Given the description of an element on the screen output the (x, y) to click on. 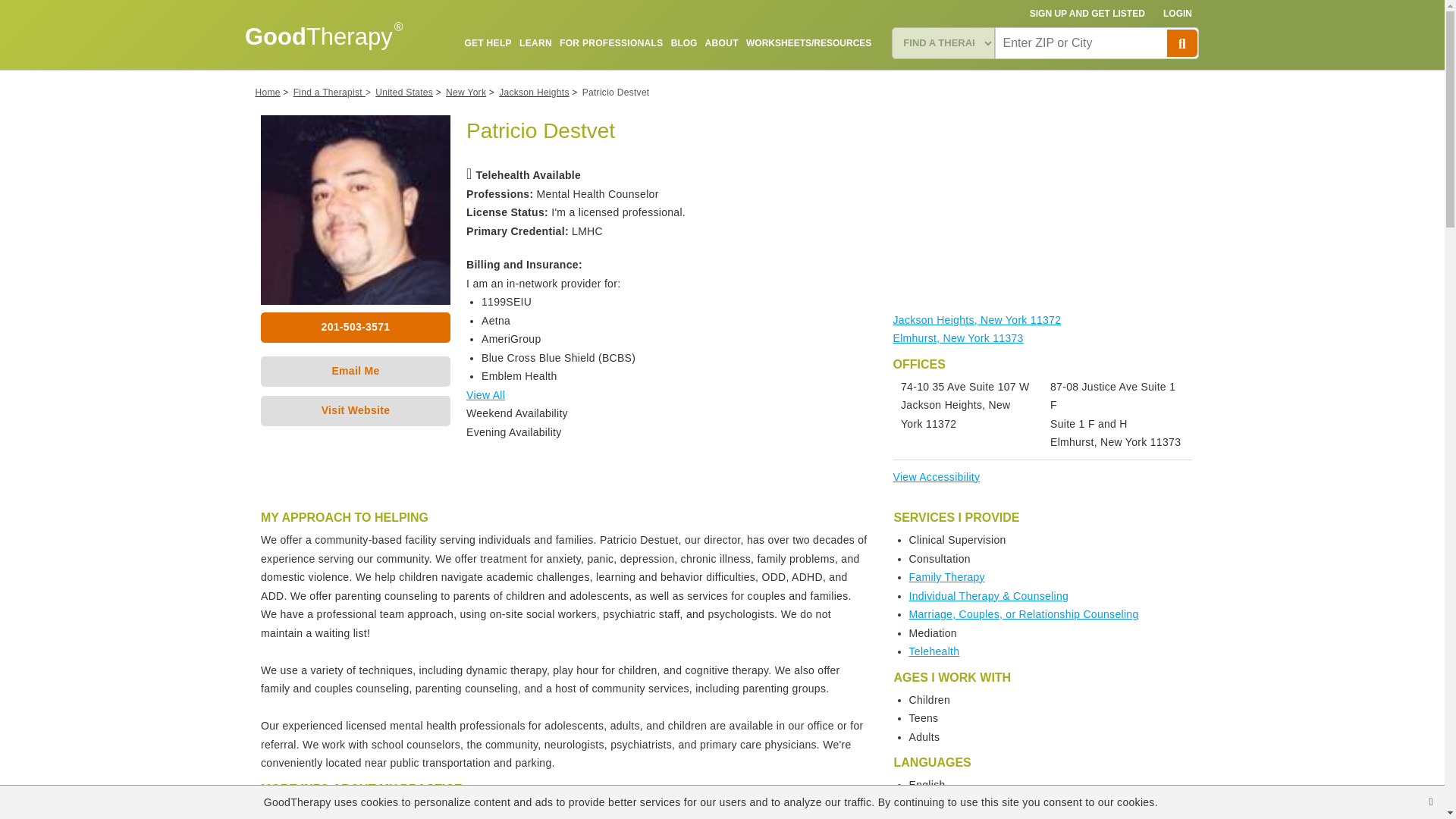
BLOG (684, 42)
LOGIN (1177, 13)
P (1181, 42)
SIGN UP AND GET LISTED (1087, 13)
NEWSLETTER (840, 77)
